Given the description of an element on the screen output the (x, y) to click on. 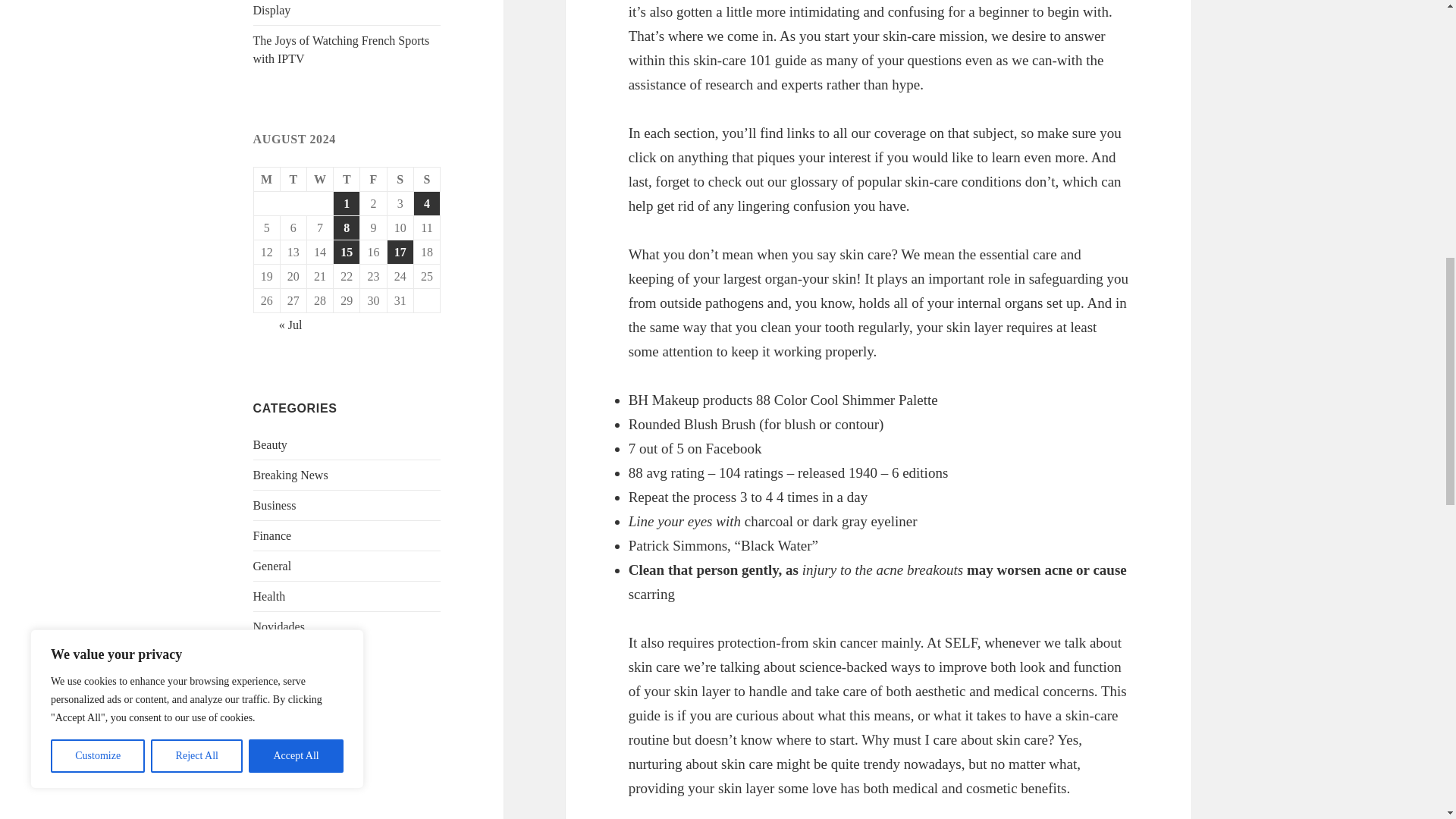
Tuesday (294, 179)
4 (426, 203)
Thursday (346, 179)
Beauty (269, 444)
15 (346, 251)
The Joys of Watching French Sports with IPTV (341, 49)
Breaking News (291, 474)
Sunday (427, 179)
8 (346, 227)
